Given the description of an element on the screen output the (x, y) to click on. 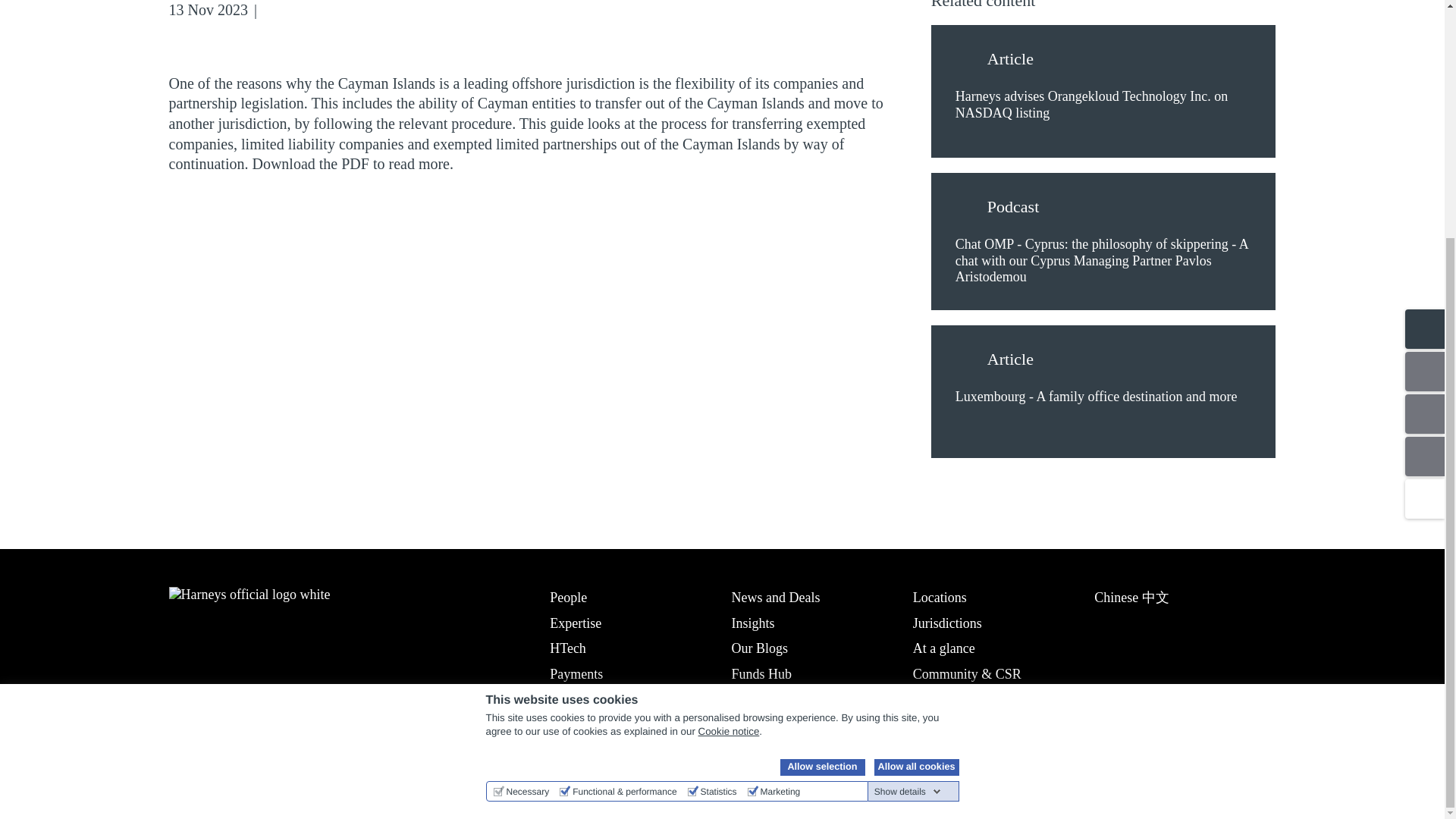
Allow selection (821, 441)
Cookie notice (729, 405)
Download (368, 11)
instagram (258, 756)
X (295, 11)
Print (393, 11)
Show details (906, 465)
Allow all cookies (915, 441)
